Given the description of an element on the screen output the (x, y) to click on. 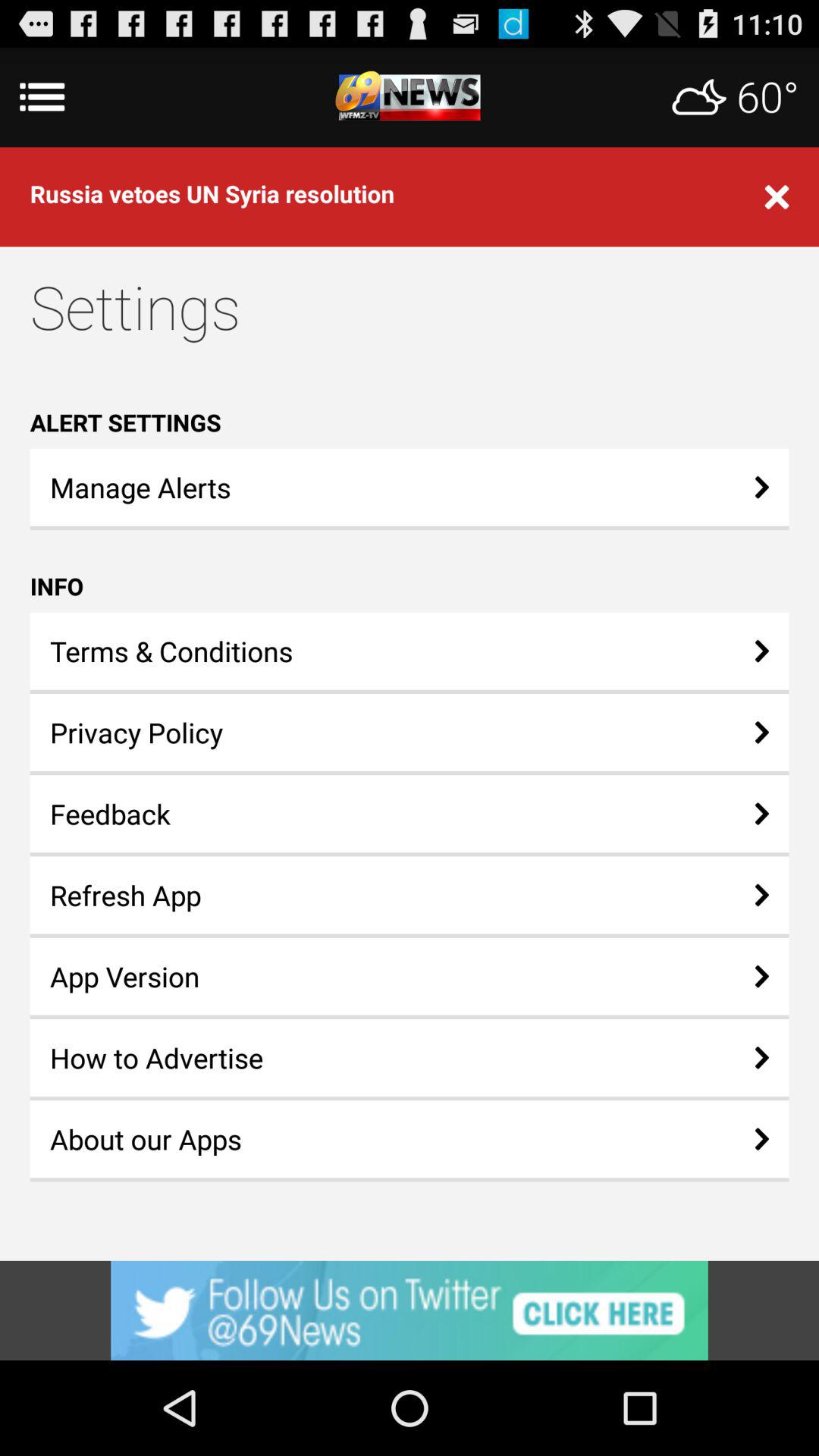
go to advertisement (409, 97)
